Given the description of an element on the screen output the (x, y) to click on. 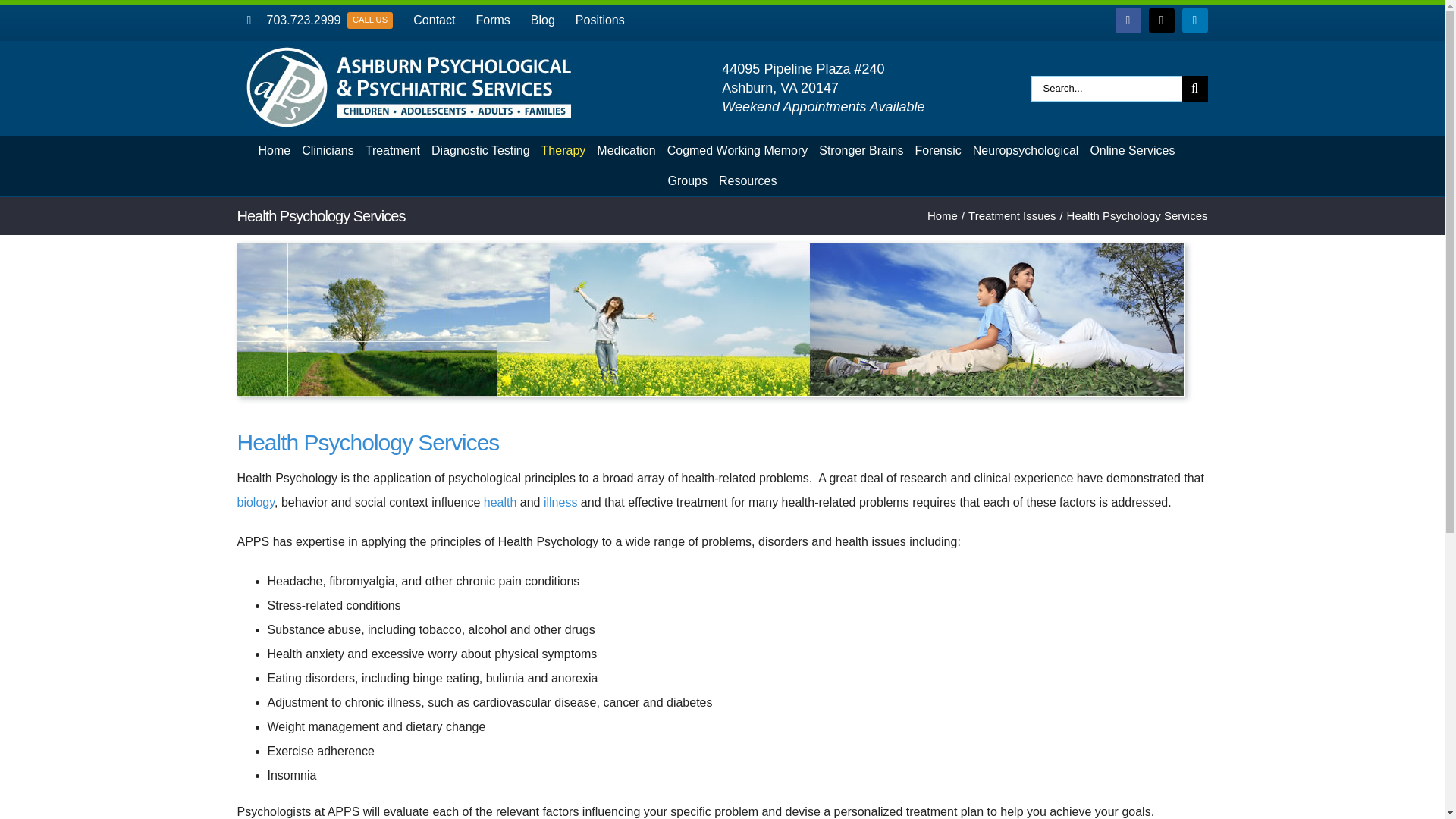
Clinicians (327, 150)
LinkedIn (1195, 20)
Facebook (1128, 20)
Home (275, 150)
Health (319, 20)
Biology (499, 502)
Health Psychology Services (255, 502)
Neuropsychological (1161, 20)
Positions (1025, 150)
Forms (600, 20)
Blog (492, 20)
Contact (542, 20)
